Given the description of an element on the screen output the (x, y) to click on. 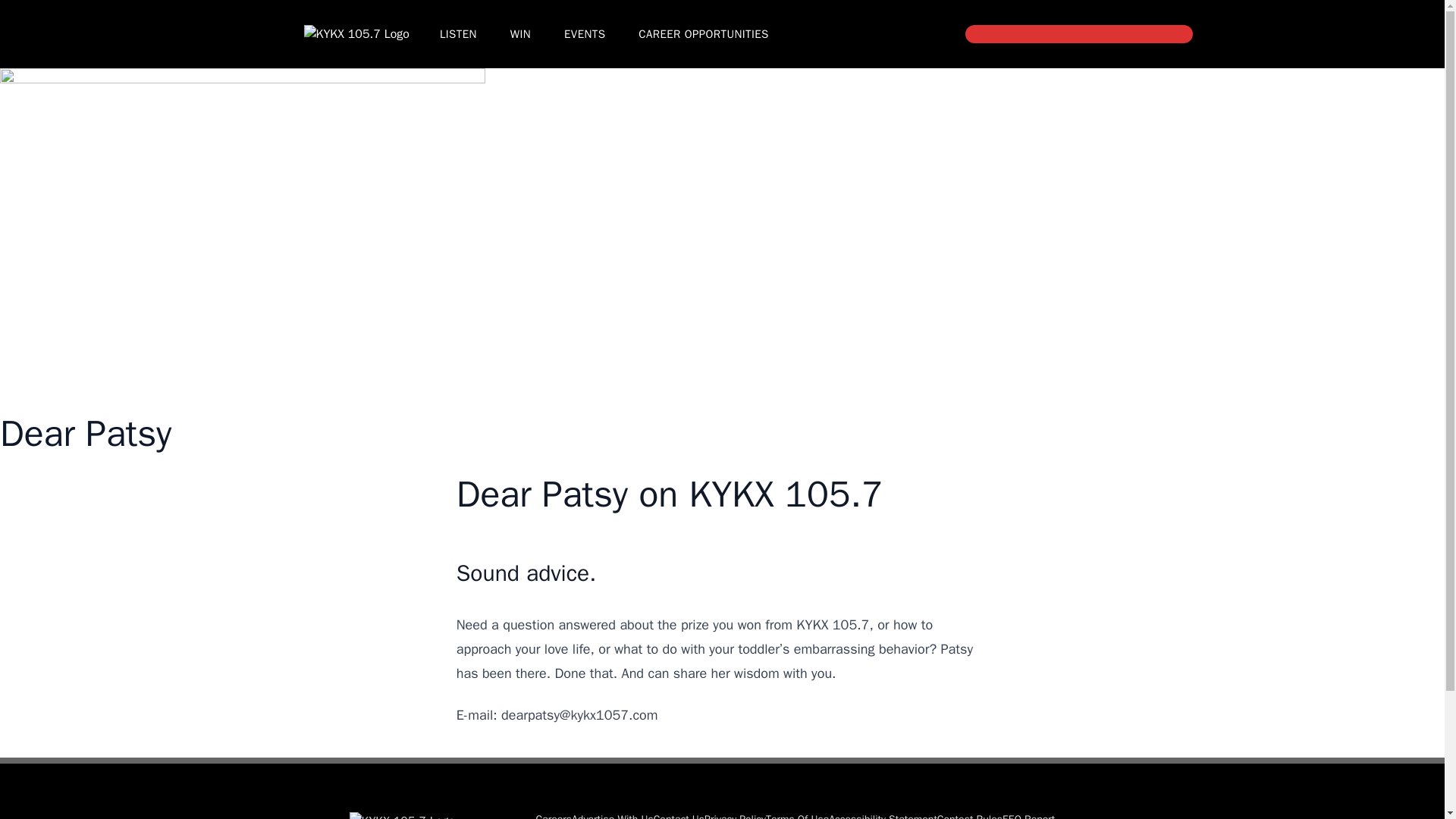
kykx1057 (355, 34)
